Given the description of an element on the screen output the (x, y) to click on. 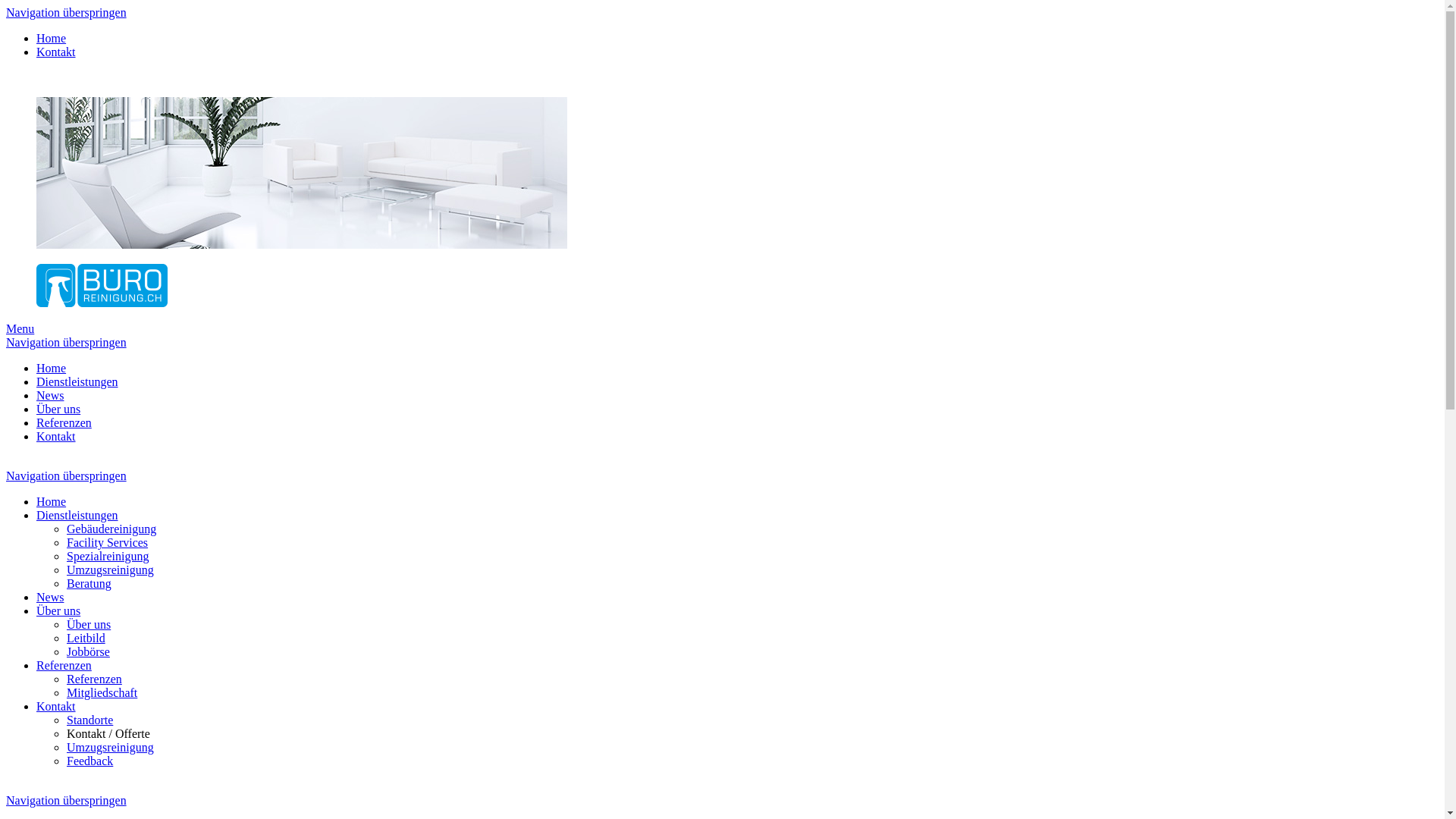
Home Element type: text (50, 37)
Kontakt Element type: text (55, 705)
  Element type: text (7, 461)
News Element type: text (49, 596)
Kontakt Element type: text (55, 51)
Standorte Element type: text (89, 719)
Umzugsreinigung Element type: text (109, 746)
Umzugsreinigung Element type: text (109, 569)
Dienstleistungen Element type: text (77, 514)
Home Element type: text (50, 367)
Mitgliedschaft Element type: text (101, 692)
News Element type: text (49, 395)
Facility Services Element type: text (106, 542)
Menu Element type: text (20, 328)
  Element type: text (7, 786)
Spezialreinigung Element type: text (107, 555)
Referenzen Element type: text (94, 678)
Beratung Element type: text (88, 583)
Dienstleistungen Element type: text (77, 381)
  Element type: text (7, 77)
Referenzen Element type: text (63, 422)
Feedback Element type: text (89, 760)
Leitbild Element type: text (85, 637)
Kontakt Element type: text (55, 435)
Home Element type: text (50, 501)
Referenzen Element type: text (63, 664)
